Given the description of an element on the screen output the (x, y) to click on. 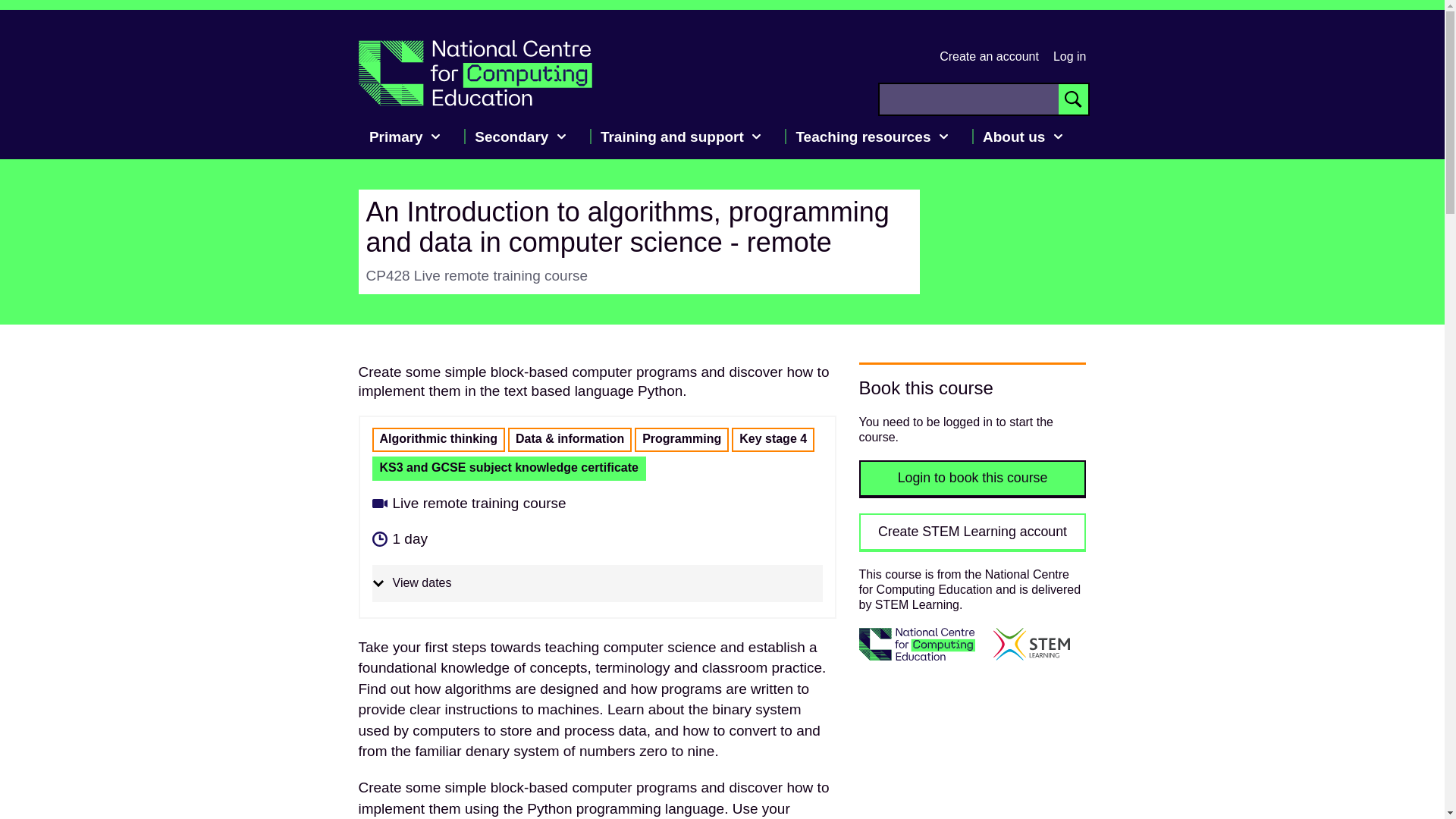
View dates (596, 583)
Create STEM Learning account (972, 532)
National Centre for Computing Education (474, 72)
Log in (1069, 56)
Create an account (989, 56)
National Centre for Computing Education (474, 73)
Skip to main content (11, 17)
Login to book this course (972, 478)
Search (1072, 99)
